Given the description of an element on the screen output the (x, y) to click on. 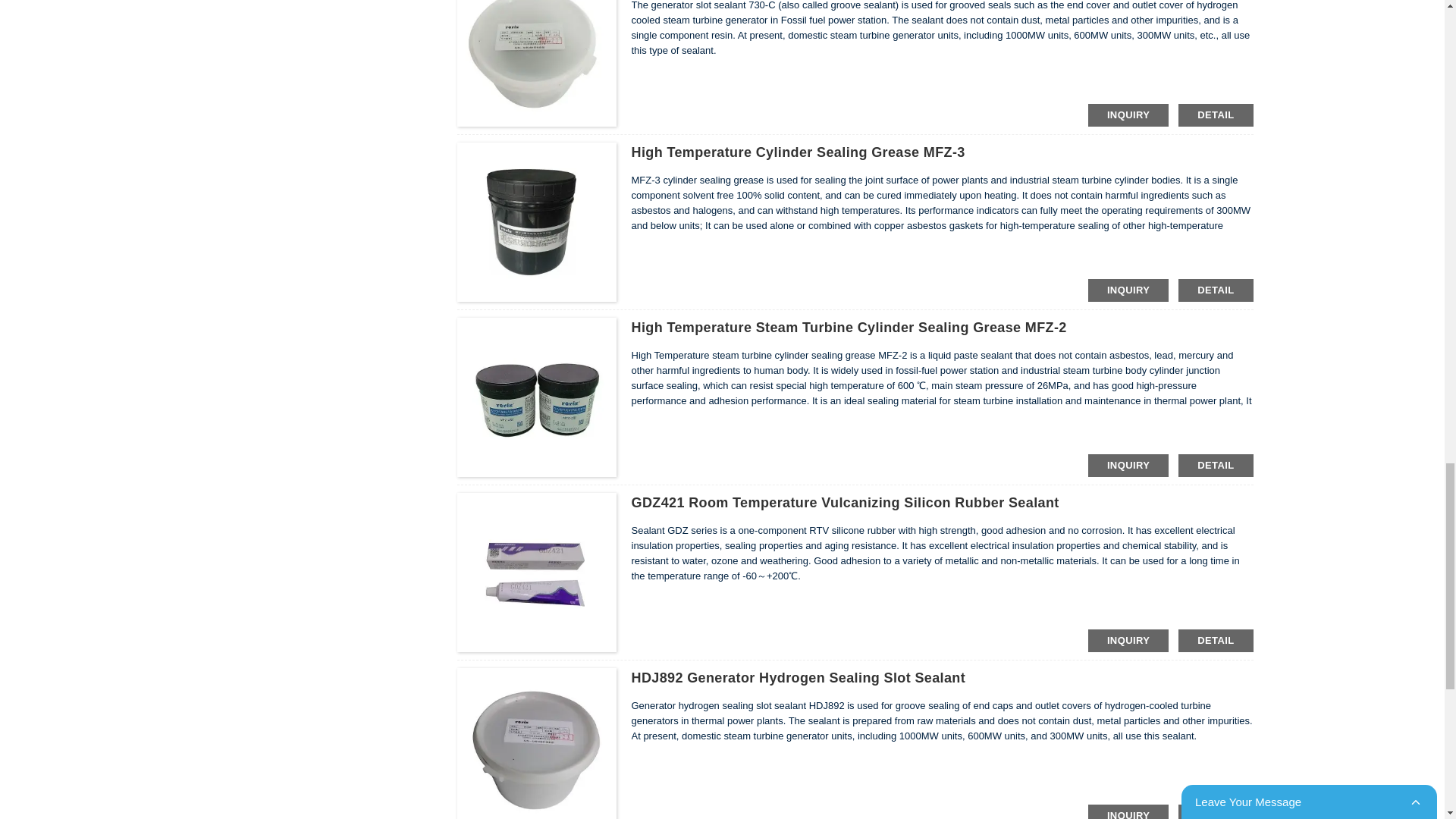
High Temperature cylinder sealing grease MFZ-3 (796, 151)
High Temperature steam turbine cylinder sealing grease MFZ-2 (847, 327)
